Given the description of an element on the screen output the (x, y) to click on. 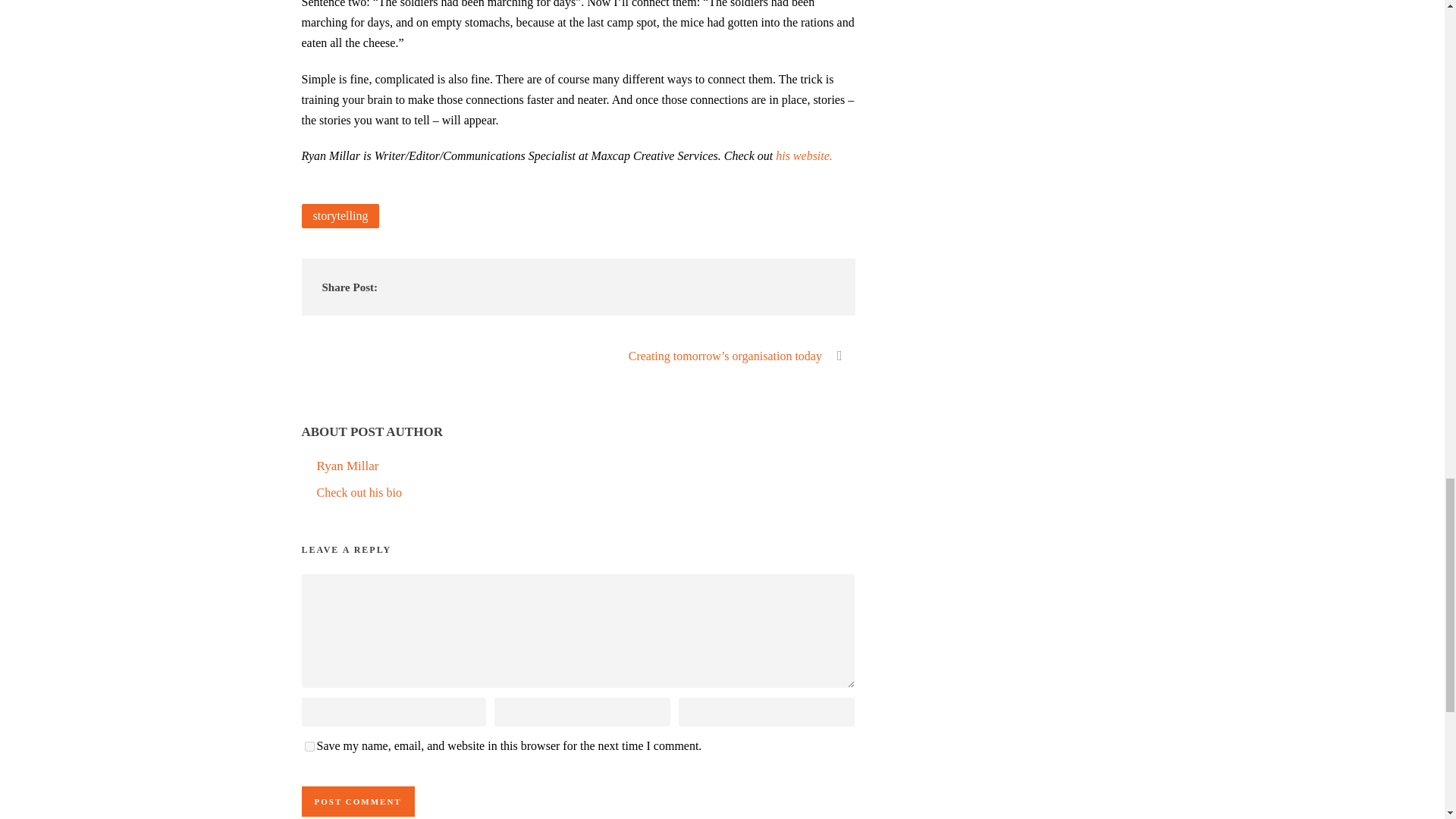
Posts by Ryan Millar (347, 465)
yes (309, 746)
Post Comment (357, 801)
